Given the description of an element on the screen output the (x, y) to click on. 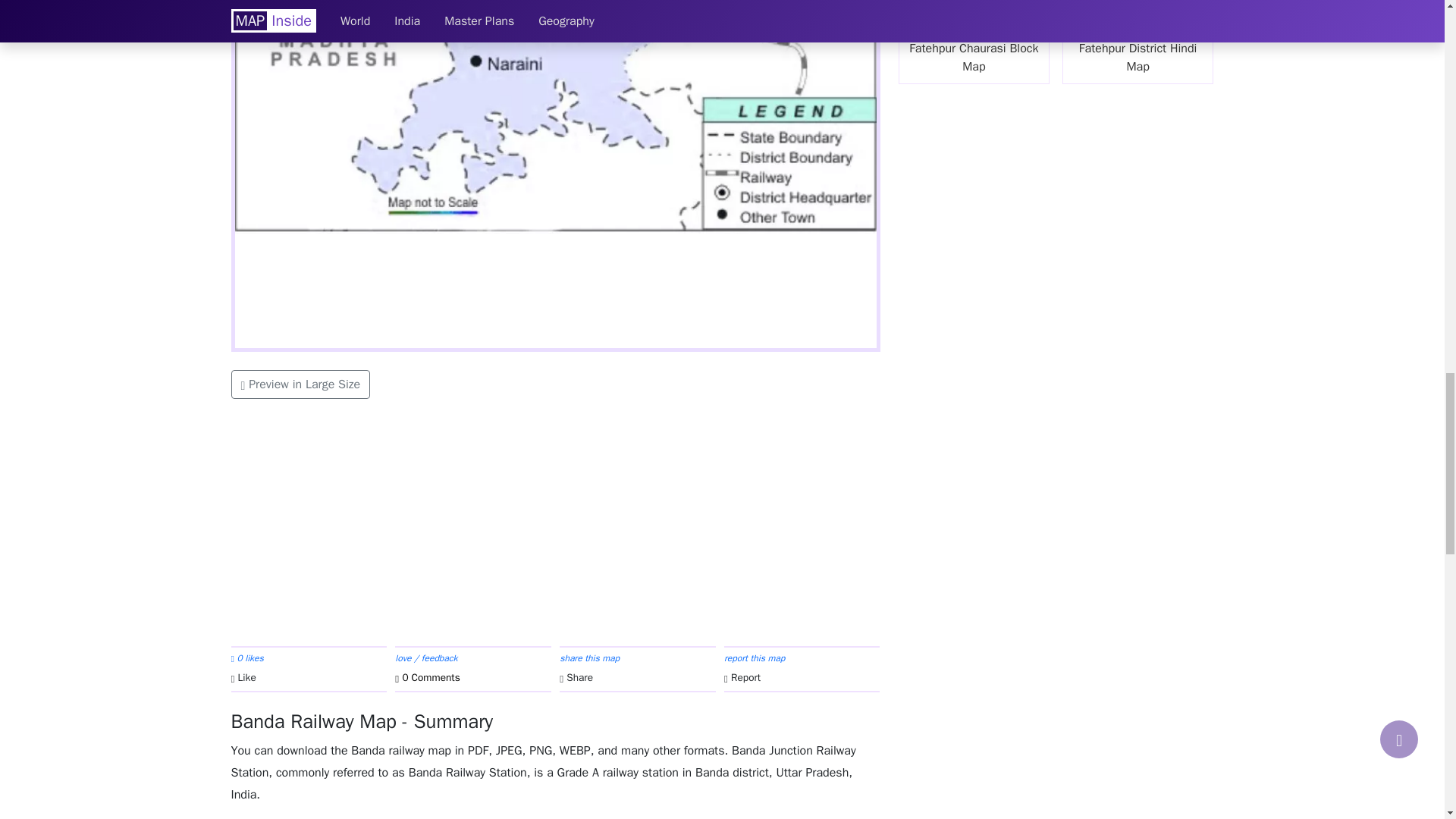
Fatehpur Chaurasi Block Map (973, 42)
0 Comments (472, 678)
Fatehpur District Hindi Map (1138, 42)
